Given the description of an element on the screen output the (x, y) to click on. 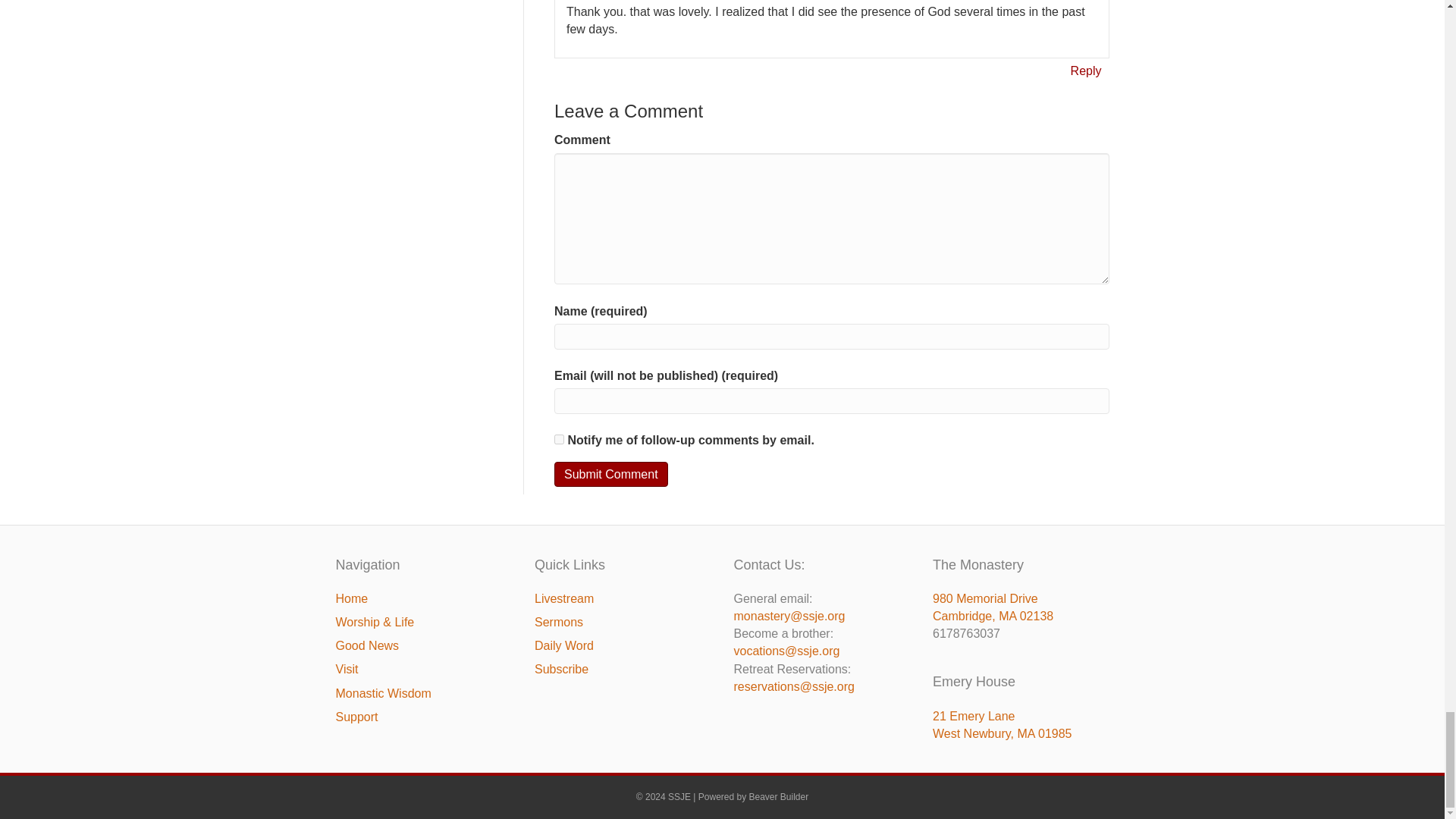
WordPress Page Builder Plugin (779, 796)
Submit Comment (611, 473)
subscribe (559, 439)
